Given the description of an element on the screen output the (x, y) to click on. 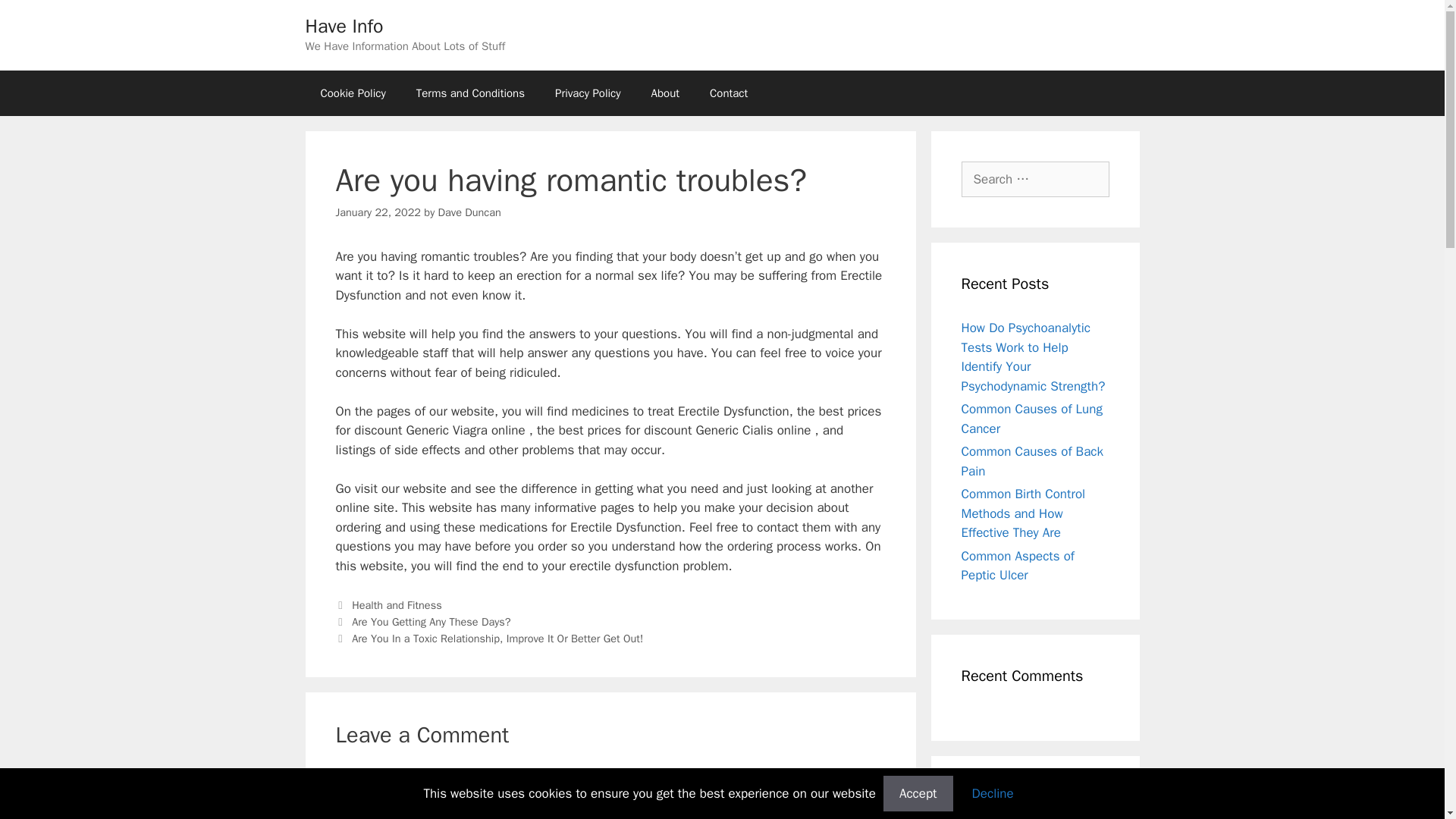
Common Birth Control Methods and How Effective They Are (1023, 513)
Cookie Policy (352, 92)
Search (35, 18)
logged in (435, 774)
Common Causes of Back Pain (1031, 461)
Accept (918, 792)
Have Info (343, 25)
Search for: (1034, 178)
Privacy Policy (588, 92)
Contact (728, 92)
About (665, 92)
Are You Getting Any These Days? (431, 621)
Common Causes of Lung Cancer (1031, 418)
